Given the description of an element on the screen output the (x, y) to click on. 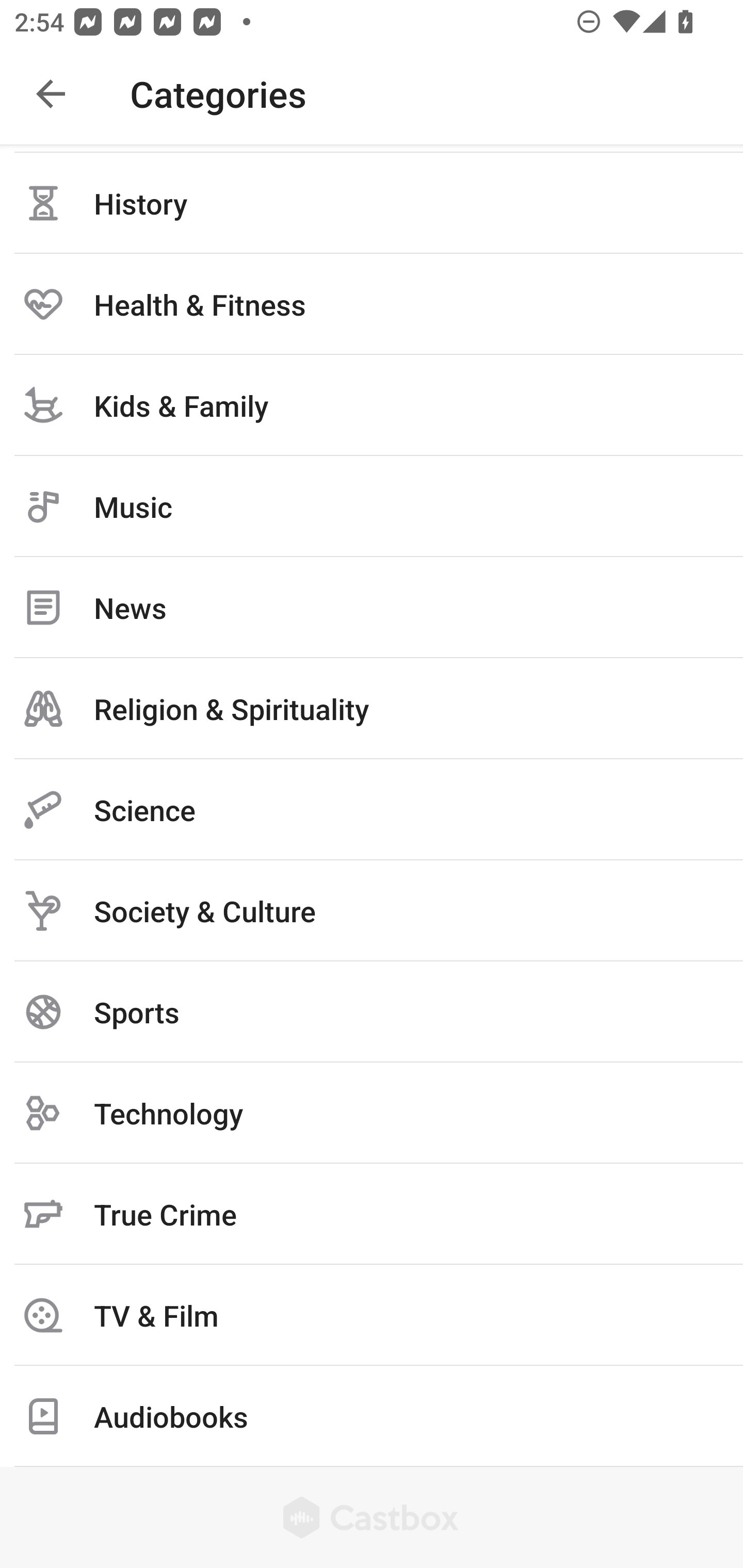
Navigate up (50, 93)
History (371, 203)
Health & Fitness (371, 304)
Kids & Family (371, 405)
Music (371, 506)
News (371, 607)
Religion & Spirituality (371, 708)
Science (371, 809)
Society & Culture (371, 910)
Sports (371, 1012)
Technology (371, 1113)
True Crime (371, 1214)
TV & Film (371, 1315)
Audiobooks (371, 1416)
